Given the description of an element on the screen output the (x, y) to click on. 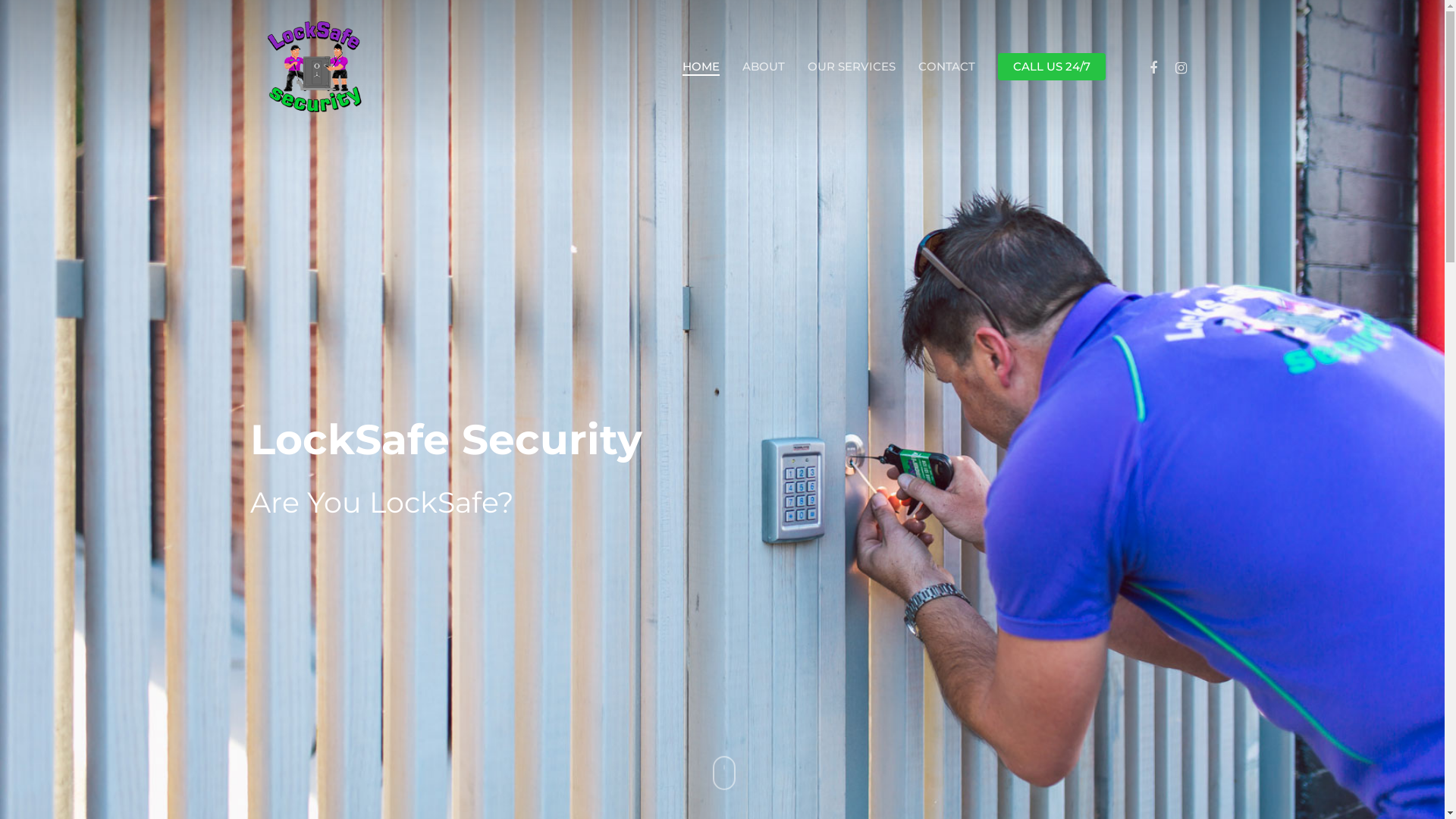
ABOUT Element type: text (763, 66)
CONTACT Element type: text (946, 66)
CALL US 24/7 Element type: text (1051, 66)
OUR SERVICES Element type: text (851, 66)
HOME Element type: text (700, 66)
